Given the description of an element on the screen output the (x, y) to click on. 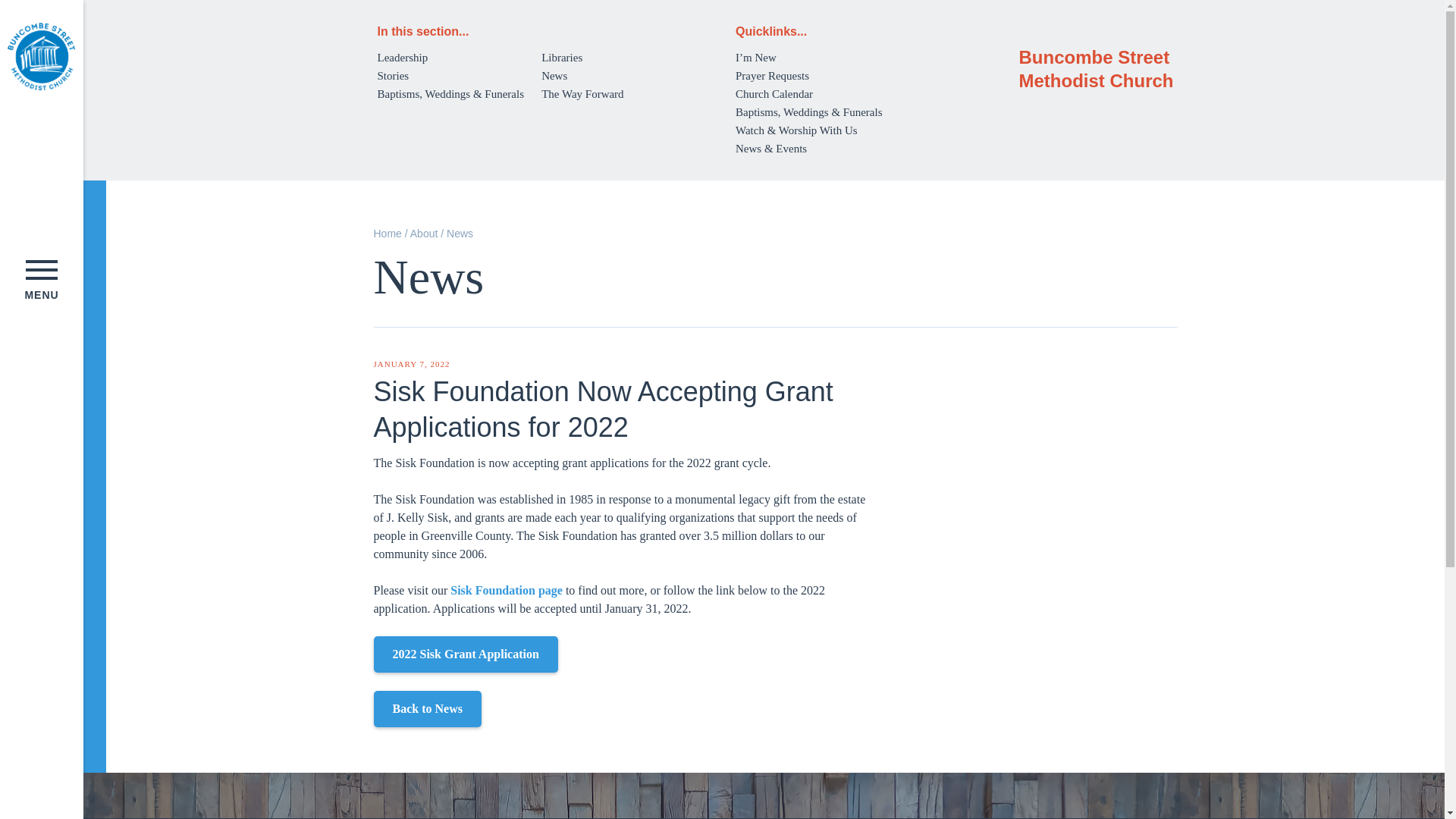
Buncombe Street Methodist Church (41, 56)
MENU (41, 279)
